Given the description of an element on the screen output the (x, y) to click on. 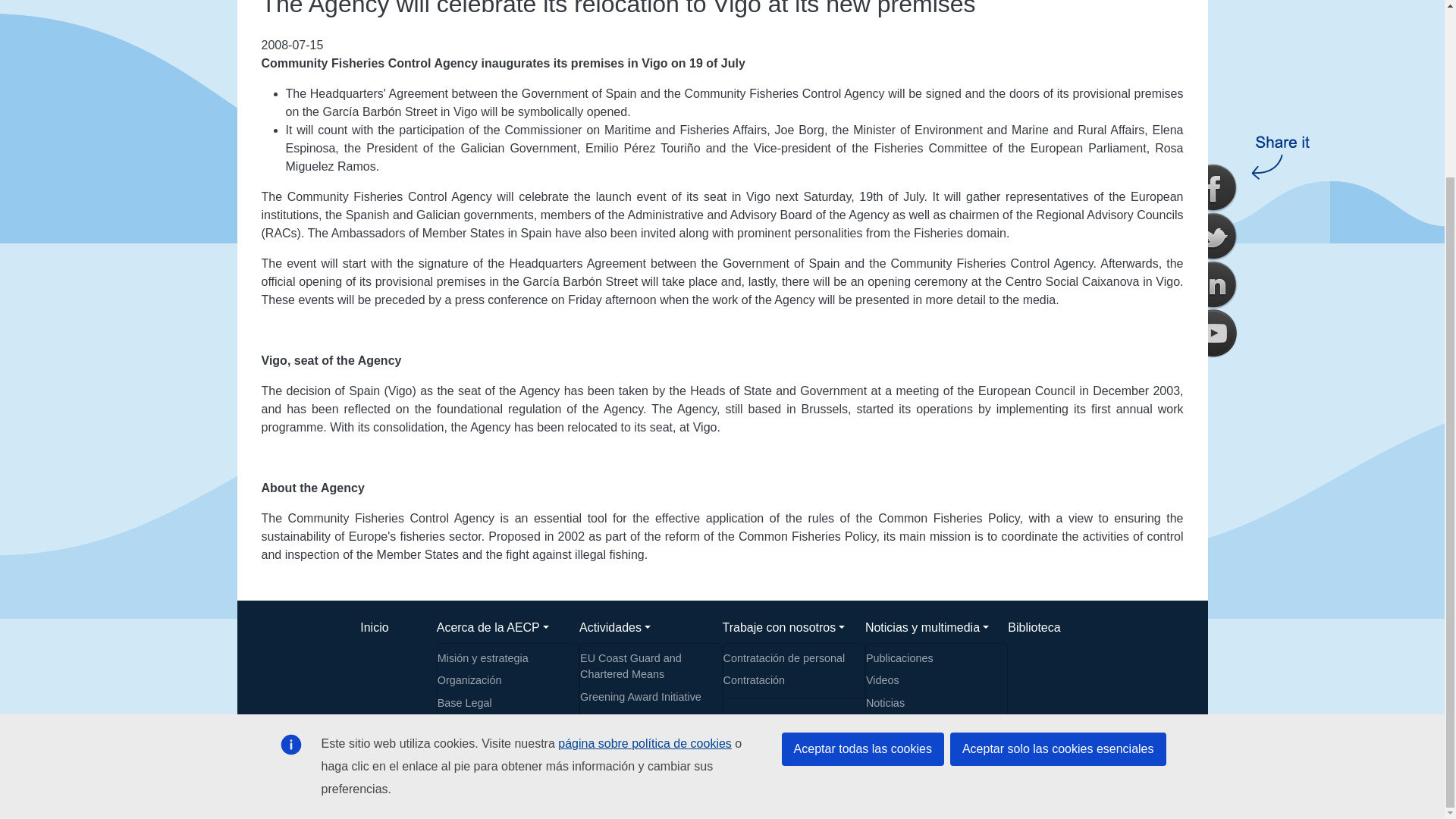
twitter (1213, 22)
linkedin (1213, 69)
youtube (1213, 117)
Aceptar solo las cookies esenciales (1058, 532)
Aceptar todas las cookies (862, 532)
